Given the description of an element on the screen output the (x, y) to click on. 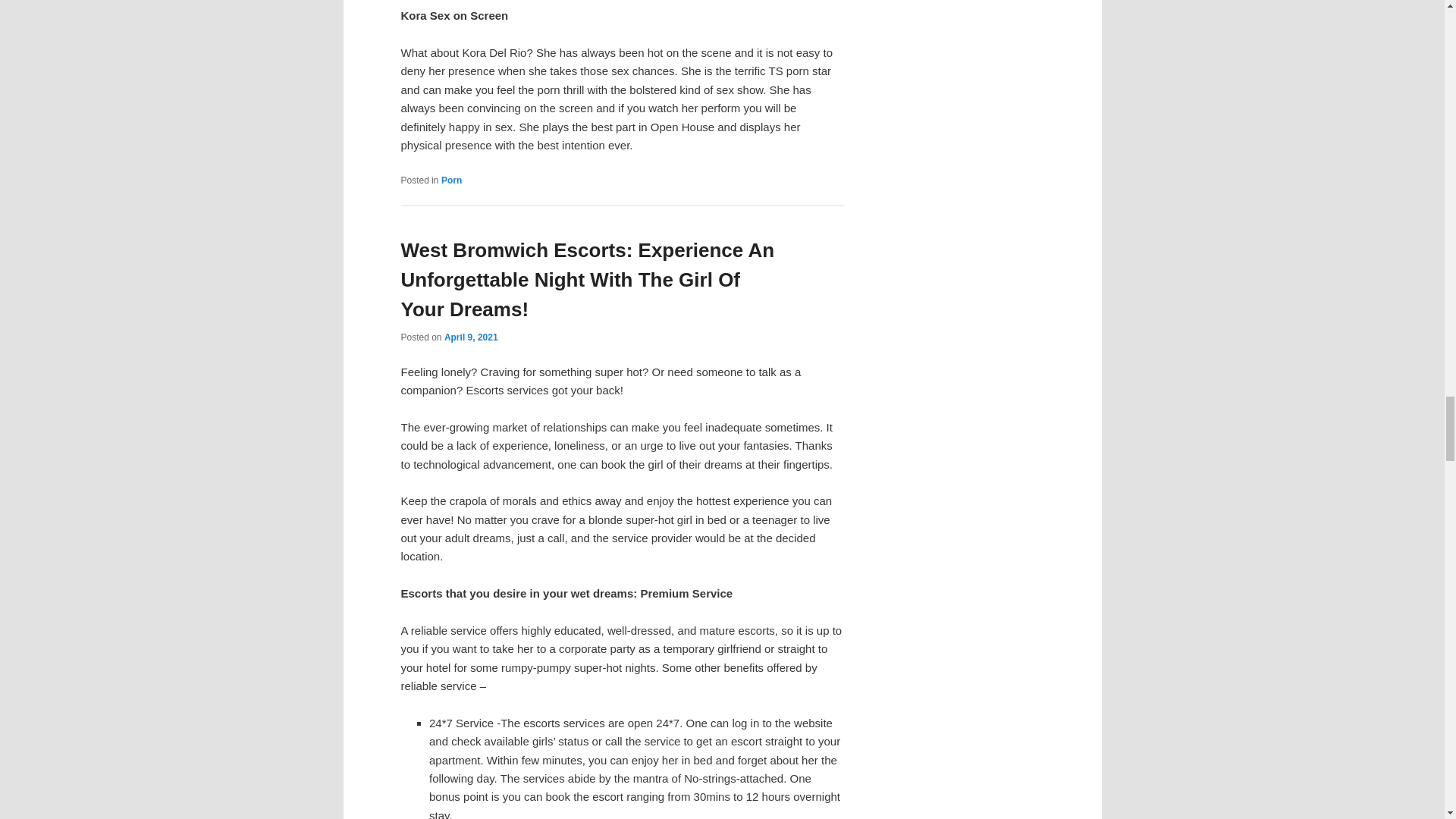
April 9, 2021 (470, 337)
Porn (451, 180)
5:47 am (470, 337)
